Given the description of an element on the screen output the (x, y) to click on. 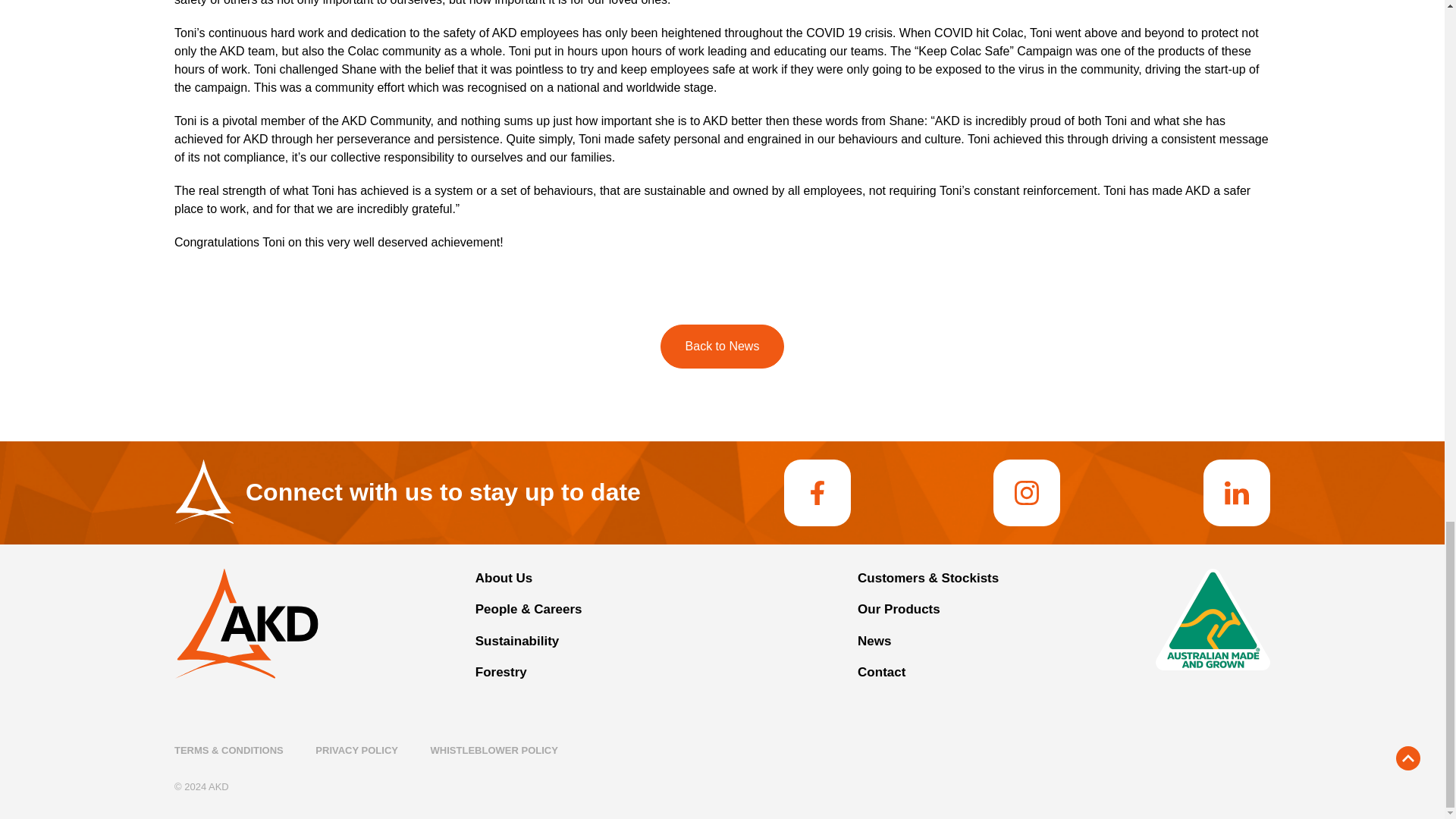
Back to News (722, 346)
Sustainability (517, 640)
AKDSoftwoods (817, 492)
Our Products (898, 608)
WHISTLEBLOWER POLICY (493, 749)
akdsoftwoods (1236, 492)
PRIVACY POLICY (356, 749)
About Us (504, 577)
Forestry (501, 672)
News (874, 640)
